Given the description of an element on the screen output the (x, y) to click on. 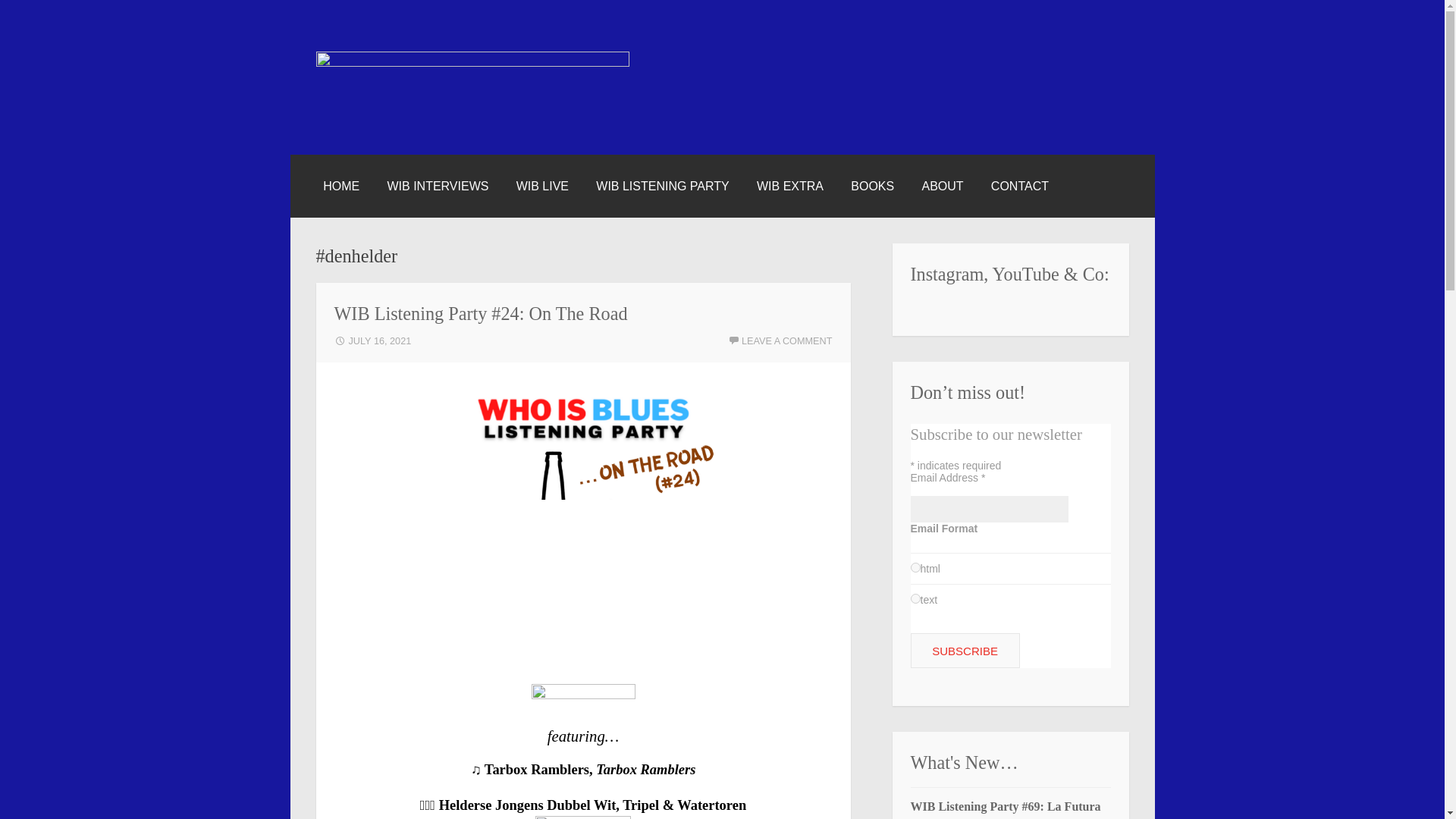
BOOKS (871, 186)
JULY 16, 2021 (371, 340)
WIB EXTRA (790, 186)
WIB LISTENING PARTY (662, 186)
CONTACT (1019, 186)
ABOUT (941, 186)
Who Is Blues (399, 143)
HOME (341, 186)
Who Is Blues (471, 61)
Search (45, 17)
text (915, 598)
LEAVE A COMMENT (780, 340)
Subscribe (964, 650)
WIB INTERVIEWS (437, 186)
WIB LIVE (542, 186)
